Given the description of an element on the screen output the (x, y) to click on. 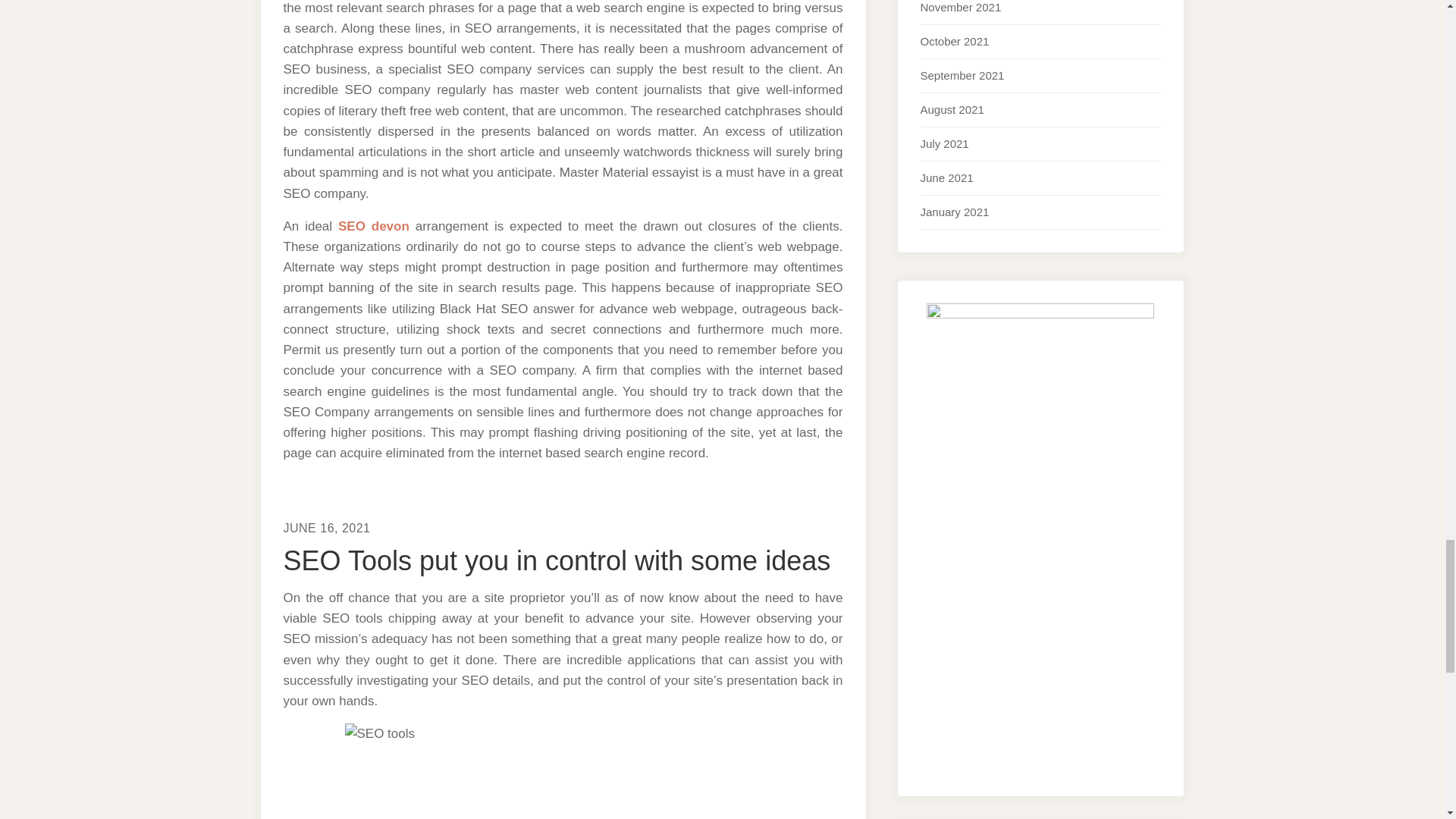
JUNE 16, 2021 (327, 527)
SEO Tools put you in control with some ideas (557, 560)
SEO devon (373, 226)
